Given the description of an element on the screen output the (x, y) to click on. 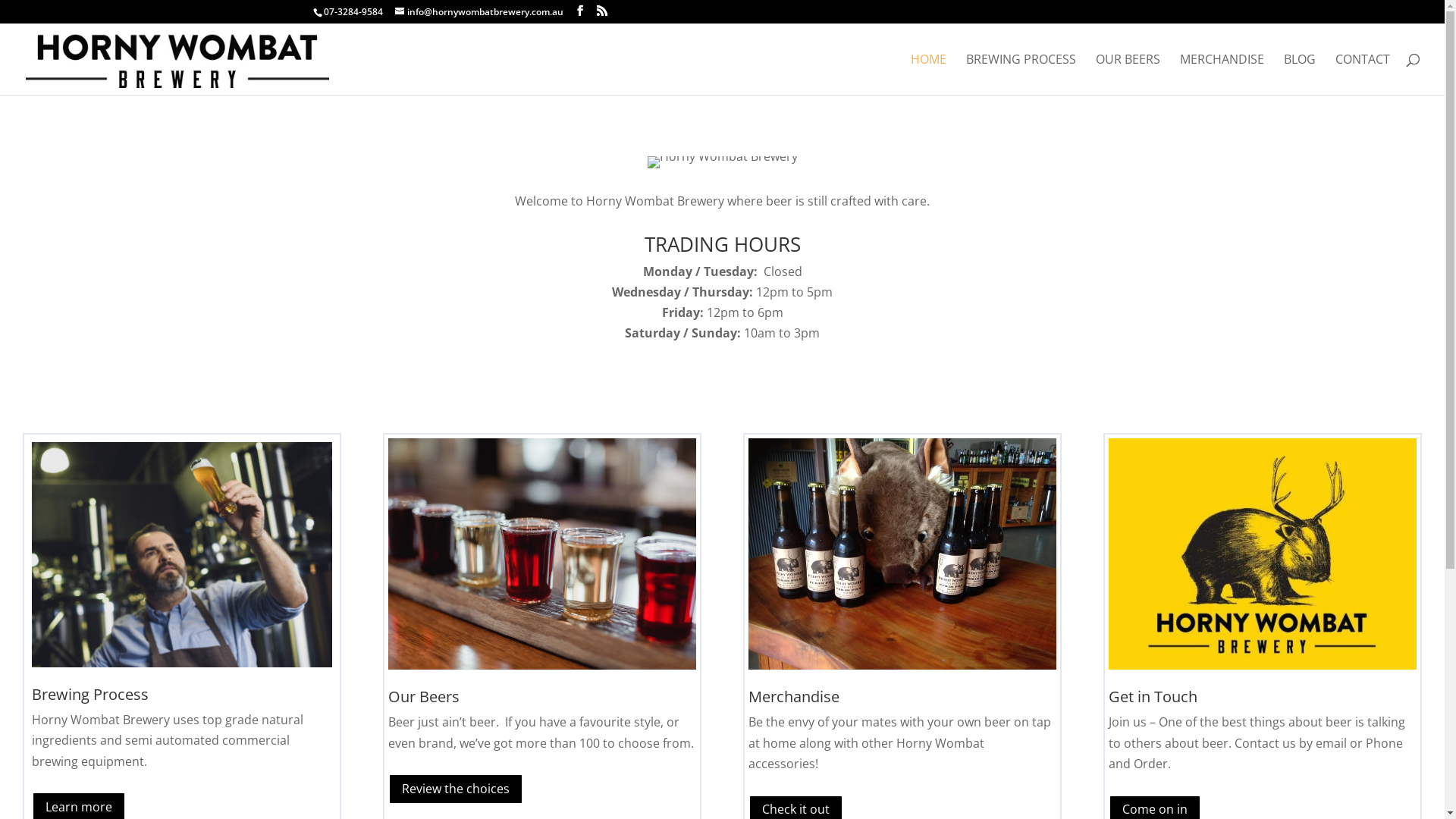
Our Brewing Process Element type: hover (181, 554)
info@hornywombatbrewery.com.au Element type: text (478, 11)
Horny Wombat Brewery Element type: hover (722, 162)
BLOG Element type: text (1299, 73)
CONTACT Element type: text (1362, 73)
Our Beer Range Element type: hover (542, 553)
Get in touch Horny Wombat Brewery Element type: hover (1262, 553)
HOME Element type: text (928, 73)
Review the choices Element type: text (455, 788)
BREWING PROCESS Element type: text (1021, 73)
MERCHANDISE Element type: text (1221, 73)
OUR BEERS Element type: text (1127, 73)
Our Merchandise at Horny Wombat Brewery Element type: hover (902, 553)
